Given the description of an element on the screen output the (x, y) to click on. 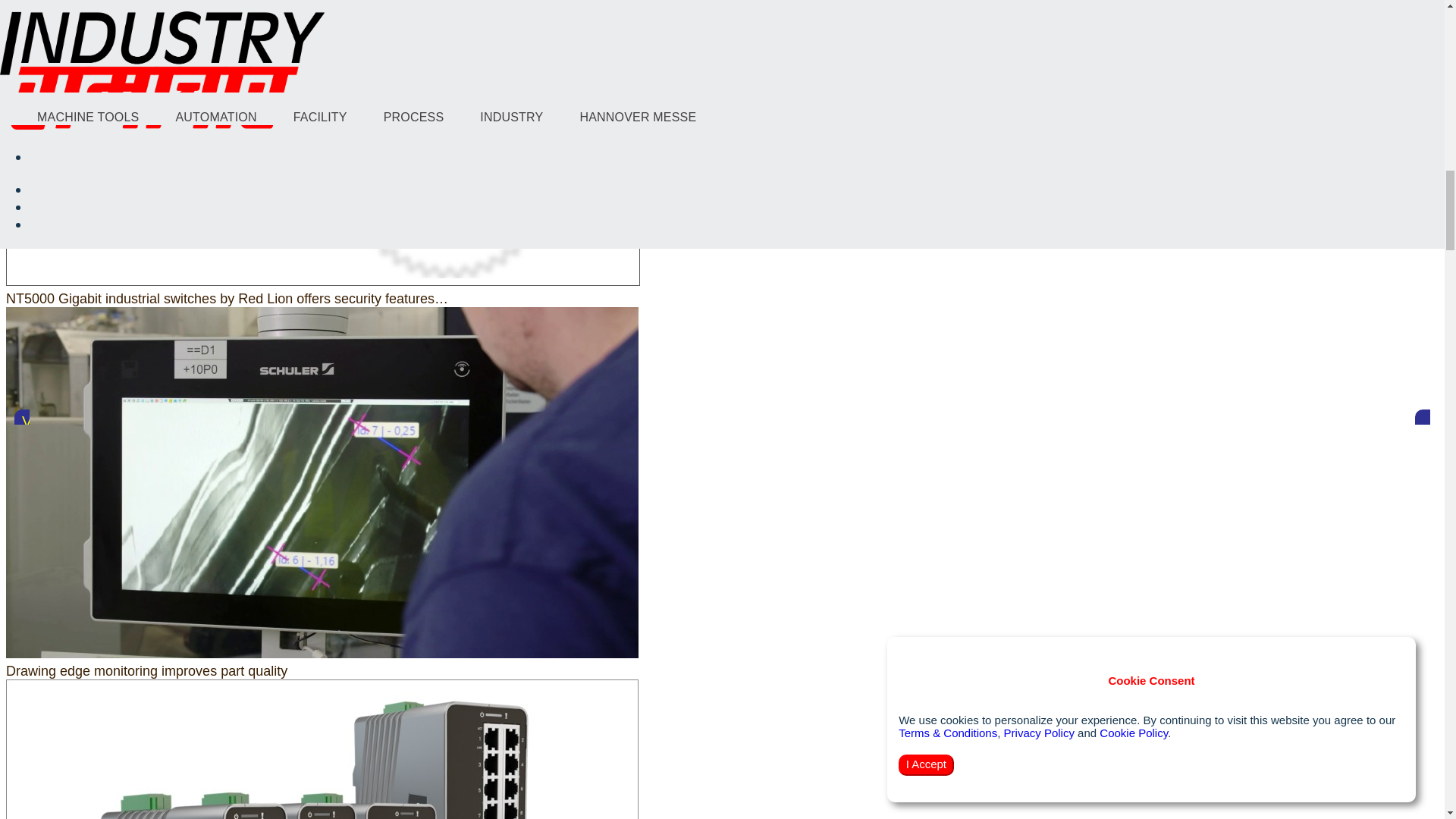
Red Lion wins 2023 IDEA award for Ethernet Switches (322, 749)
